Given the description of an element on the screen output the (x, y) to click on. 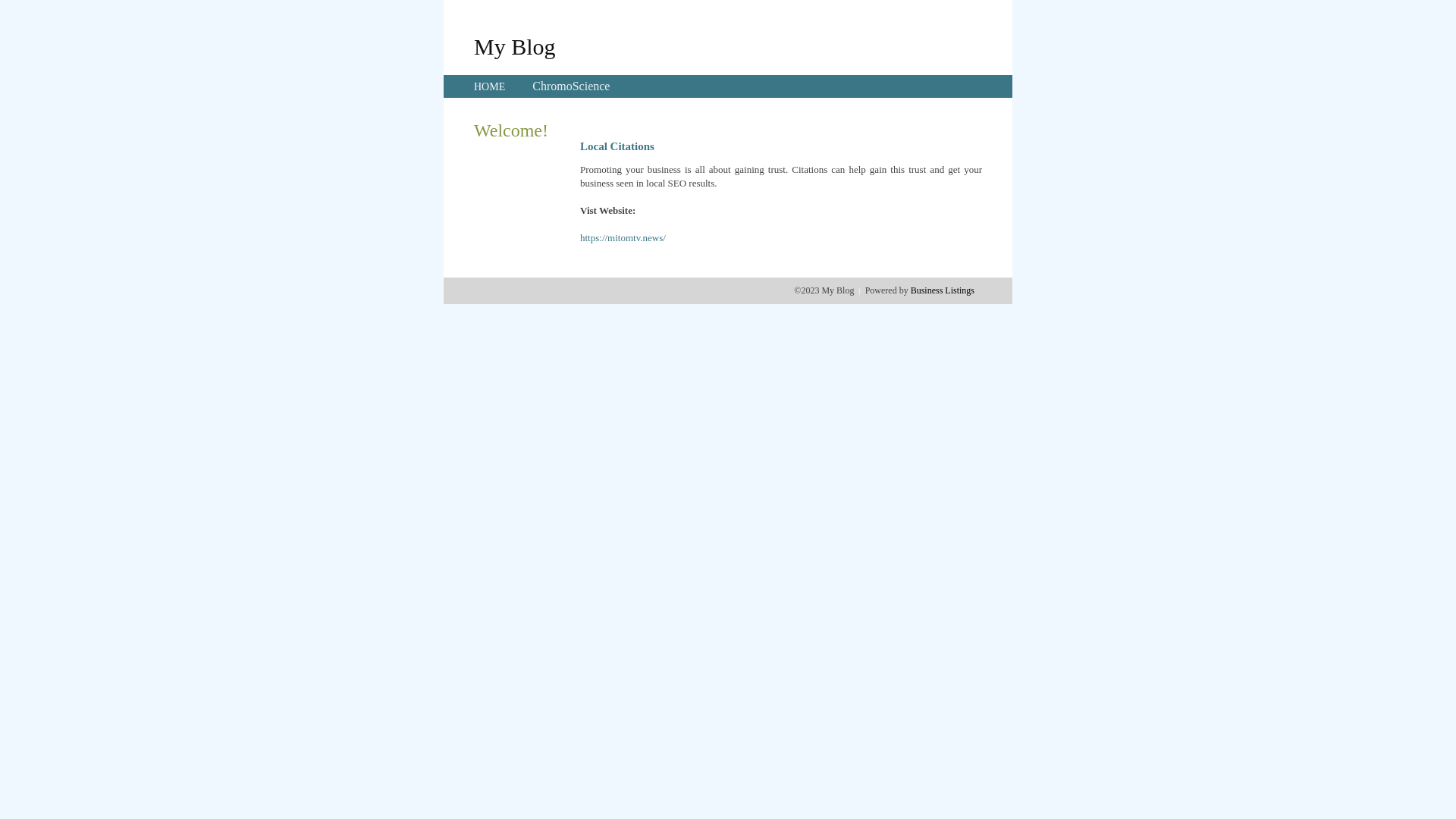
My Blog Element type: text (514, 46)
ChromoScience Element type: text (570, 85)
Business Listings Element type: text (942, 290)
HOME Element type: text (489, 86)
https://mitomtv.news/ Element type: text (622, 237)
